Given the description of an element on the screen output the (x, y) to click on. 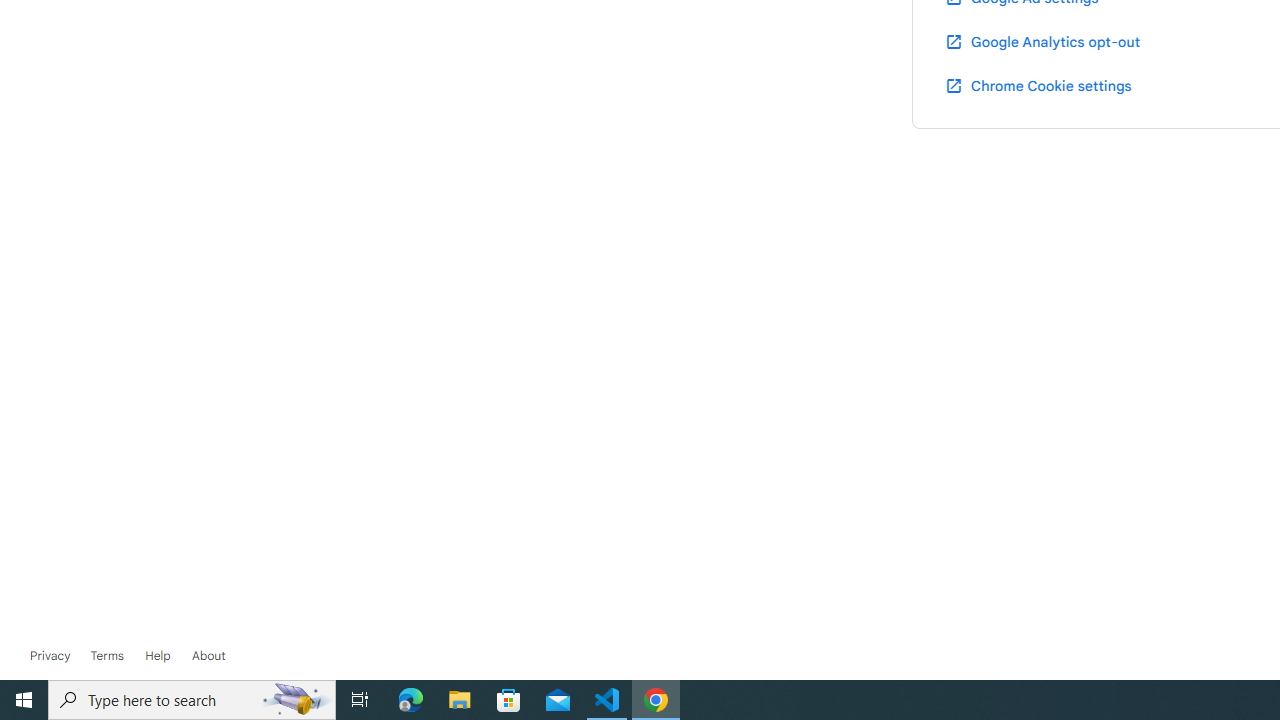
Google Analytics opt-out (1041, 41)
Chrome Cookie settings (1037, 85)
Learn more about Google Account (208, 655)
Help (158, 655)
Terms (106, 655)
Privacy (50, 655)
